Given the description of an element on the screen output the (x, y) to click on. 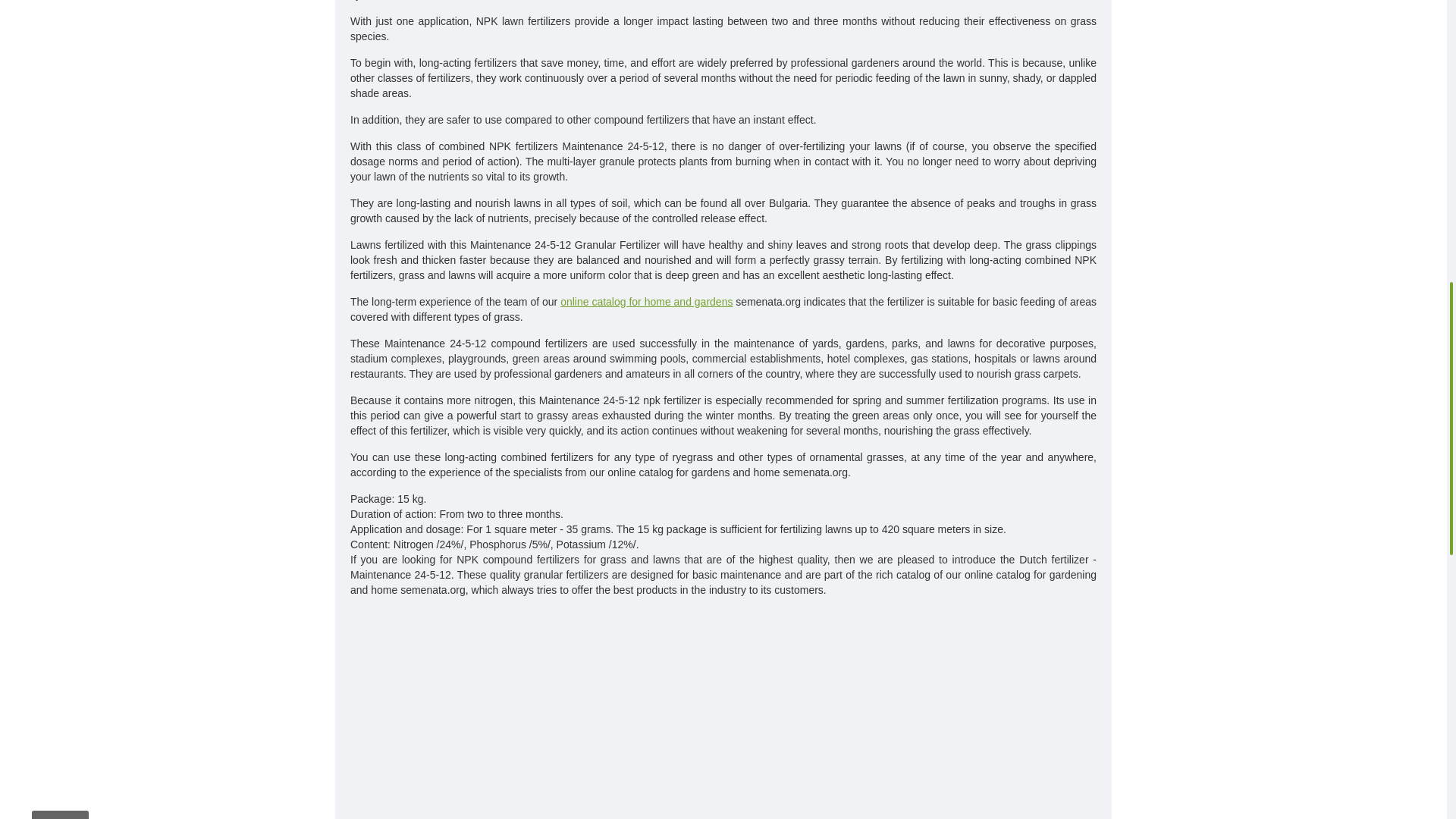
YouTube video player (723, 714)
